Given the description of an element on the screen output the (x, y) to click on. 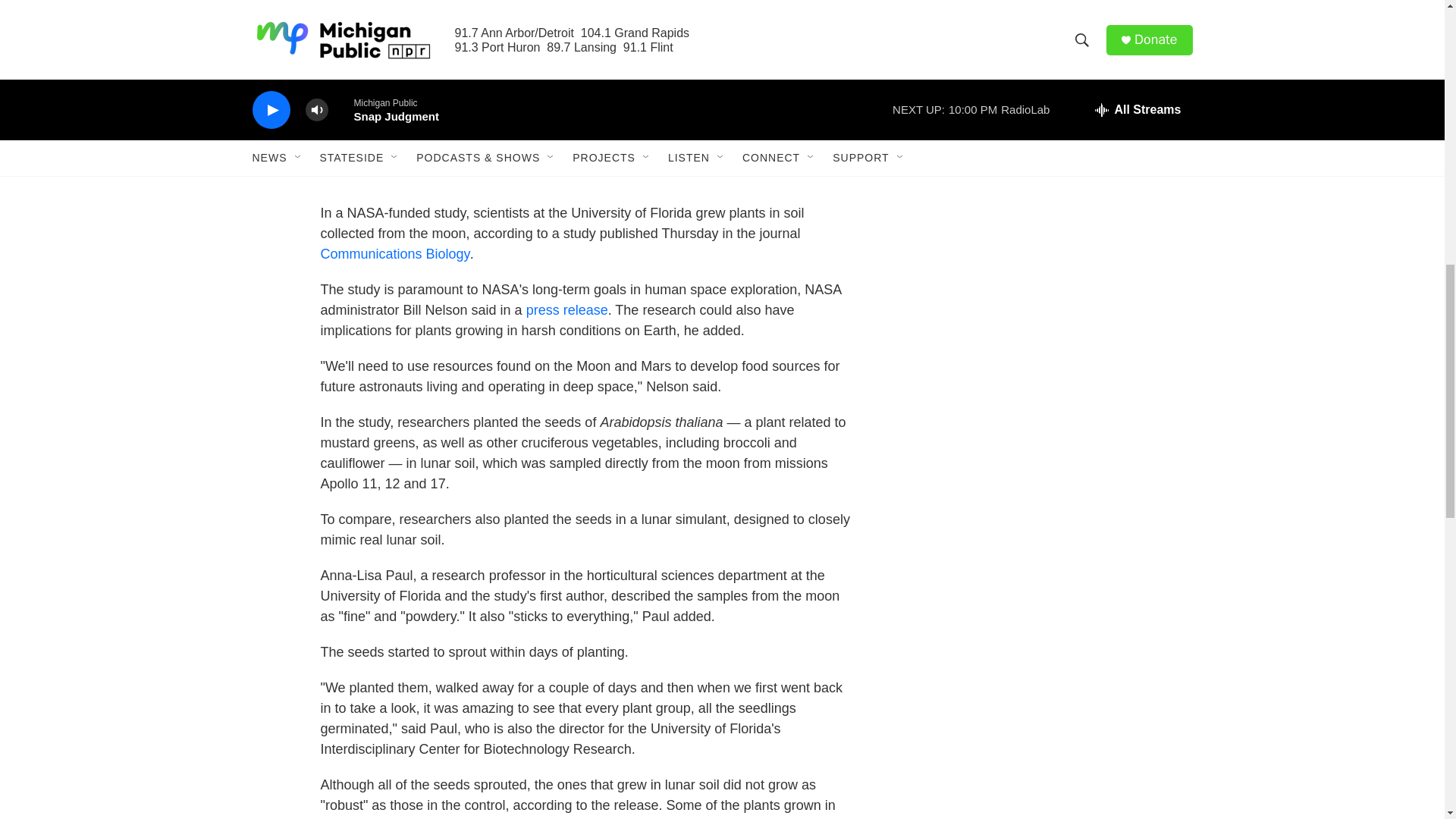
3rd party ad content (1062, 273)
3rd party ad content (1062, 493)
